Given the description of an element on the screen output the (x, y) to click on. 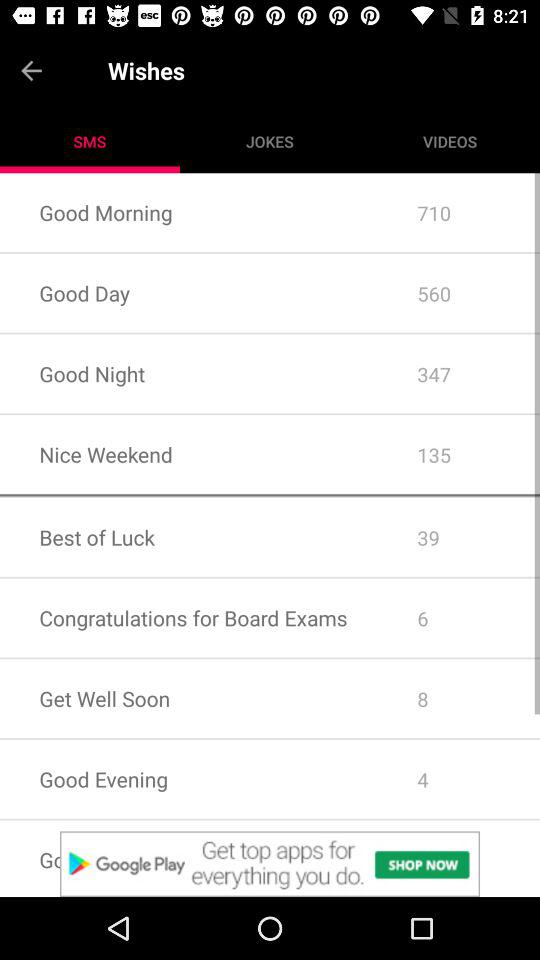
choose 560 (458, 293)
